Given the description of an element on the screen output the (x, y) to click on. 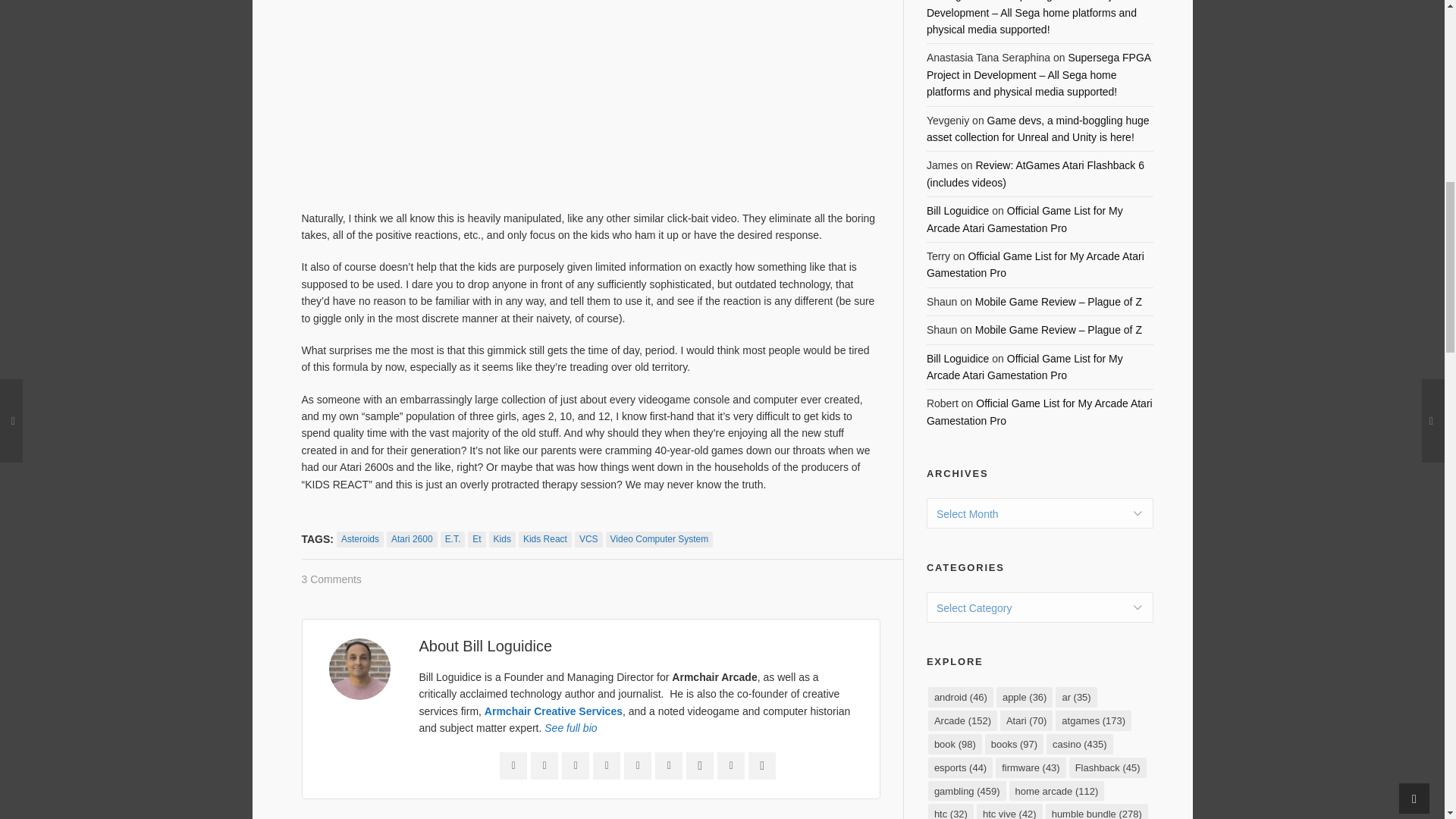
RSS (637, 765)
Et (475, 539)
VCS (588, 539)
Kids (502, 539)
Mail (513, 765)
Tumblr (668, 765)
Atari 2600 (412, 539)
Facebook (544, 765)
Pinterest (606, 765)
E.T. (453, 539)
